Given the description of an element on the screen output the (x, y) to click on. 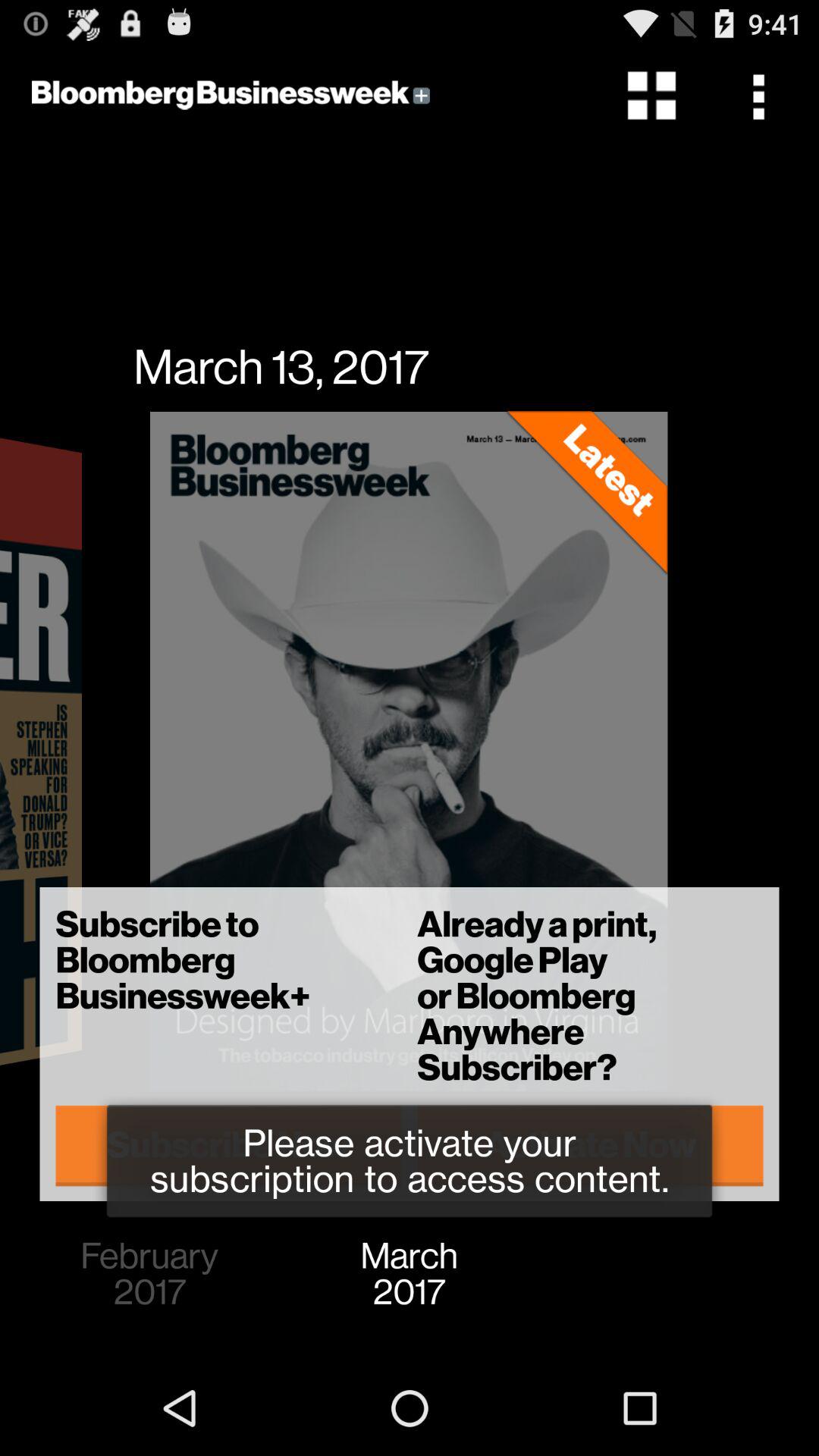
turn off the item to the right of the subscribe to bloomberg (590, 1145)
